Given the description of an element on the screen output the (x, y) to click on. 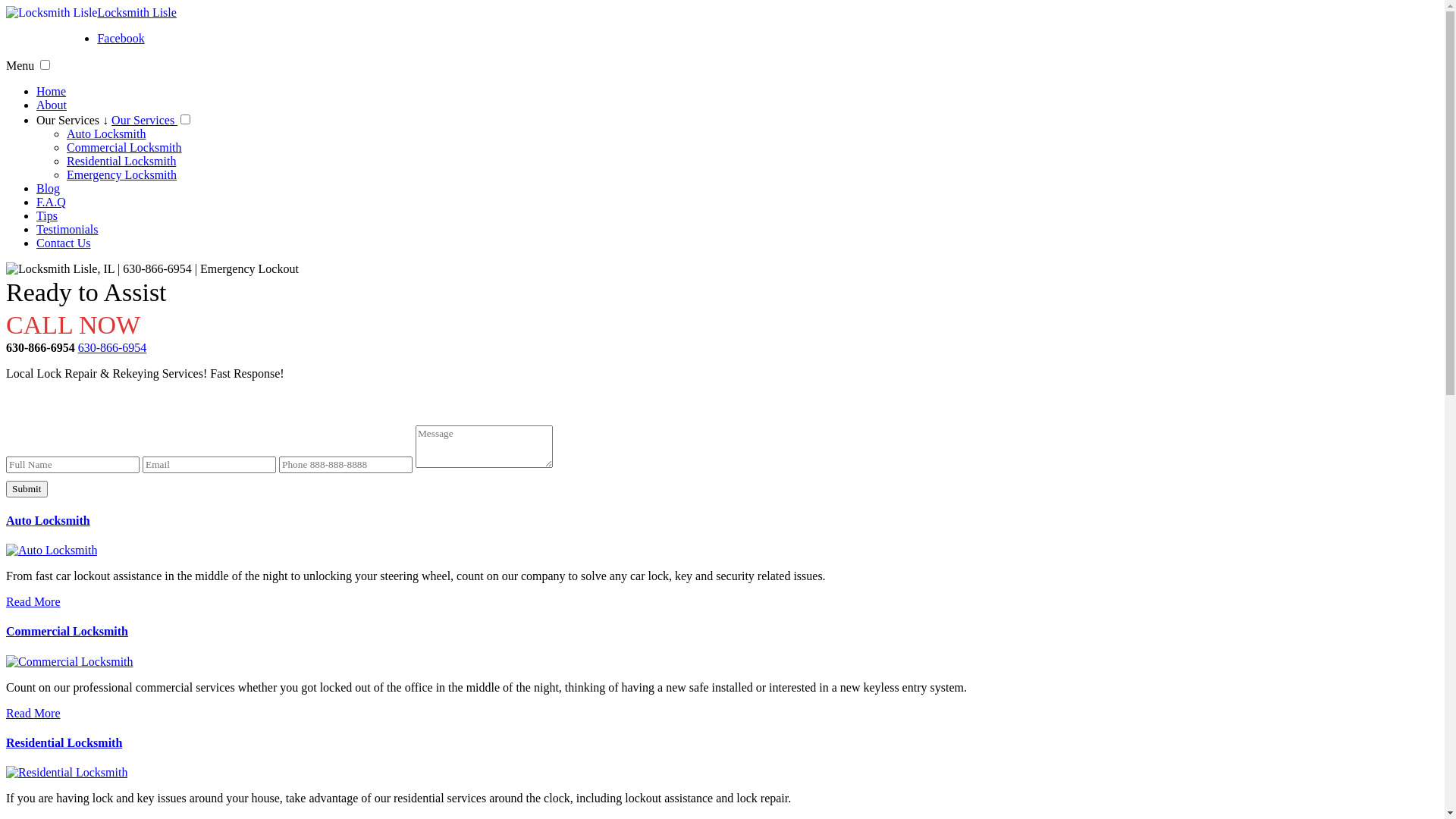
F.A.Q Element type: text (50, 201)
Facebook Element type: text (120, 37)
Our Services Element type: text (144, 119)
Auto Locksmith Element type: text (48, 520)
Auto Locksmith Element type: text (105, 133)
Testimonials Element type: text (67, 228)
Contact us Element type: text (722, 403)
Read More Element type: text (33, 712)
Blog Element type: text (47, 188)
Residential Locksmith Element type: text (120, 160)
Locksmith Lisle, IL | 630-866-6954 | Emergency Lockout Element type: hover (152, 269)
Residential Locksmith Element type: hover (66, 771)
Residential Locksmith Element type: text (64, 742)
Contact Us Element type: text (63, 242)
Home Element type: text (50, 90)
About Element type: text (51, 104)
Tips Element type: text (46, 215)
Submit Element type: text (26, 488)
Emergency Locksmith Element type: text (121, 174)
Auto Locksmith Element type: hover (51, 549)
Commercial Locksmith Element type: text (124, 147)
Read More Element type: text (33, 601)
Commercial Locksmith Element type: text (67, 630)
630-866-6954 Element type: text (112, 347)
Commercial Locksmith Element type: hover (69, 661)
